Given the description of an element on the screen output the (x, y) to click on. 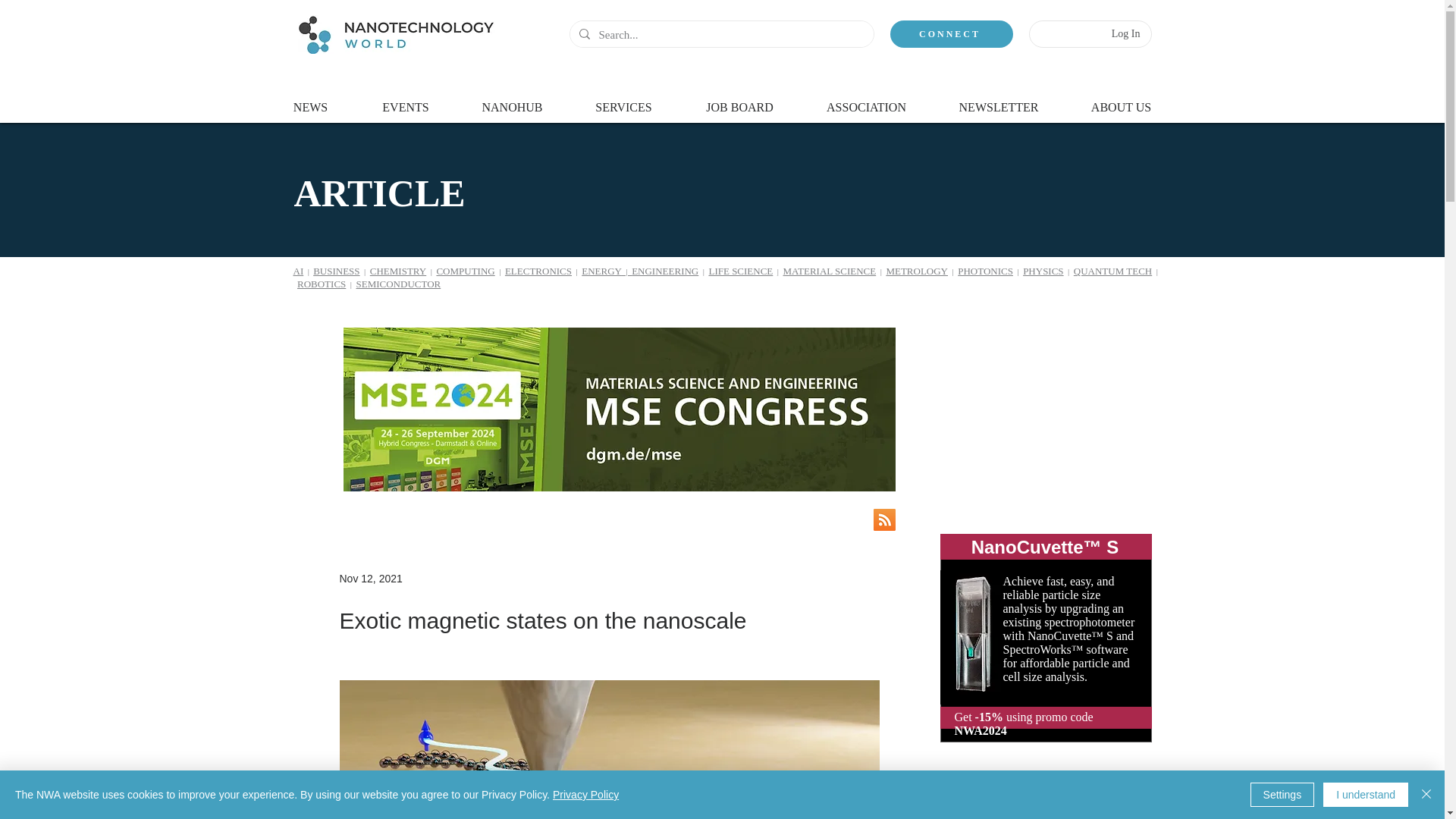
COMPUTING (465, 270)
JOB BOARD (739, 100)
ELECTRONICS (538, 270)
CHEMISTRY (397, 270)
ABOUT US (1120, 100)
AI (297, 270)
ENERGY (600, 270)
MATERIAL SCIENCE (829, 270)
LIFE SCIENCE (740, 270)
NEWSLETTER (999, 100)
Nov 12, 2021 (371, 578)
PHOTONICS (985, 270)
EVENTS (405, 100)
SERVICES (624, 100)
ASSOCIATION (866, 100)
